Given the description of an element on the screen output the (x, y) to click on. 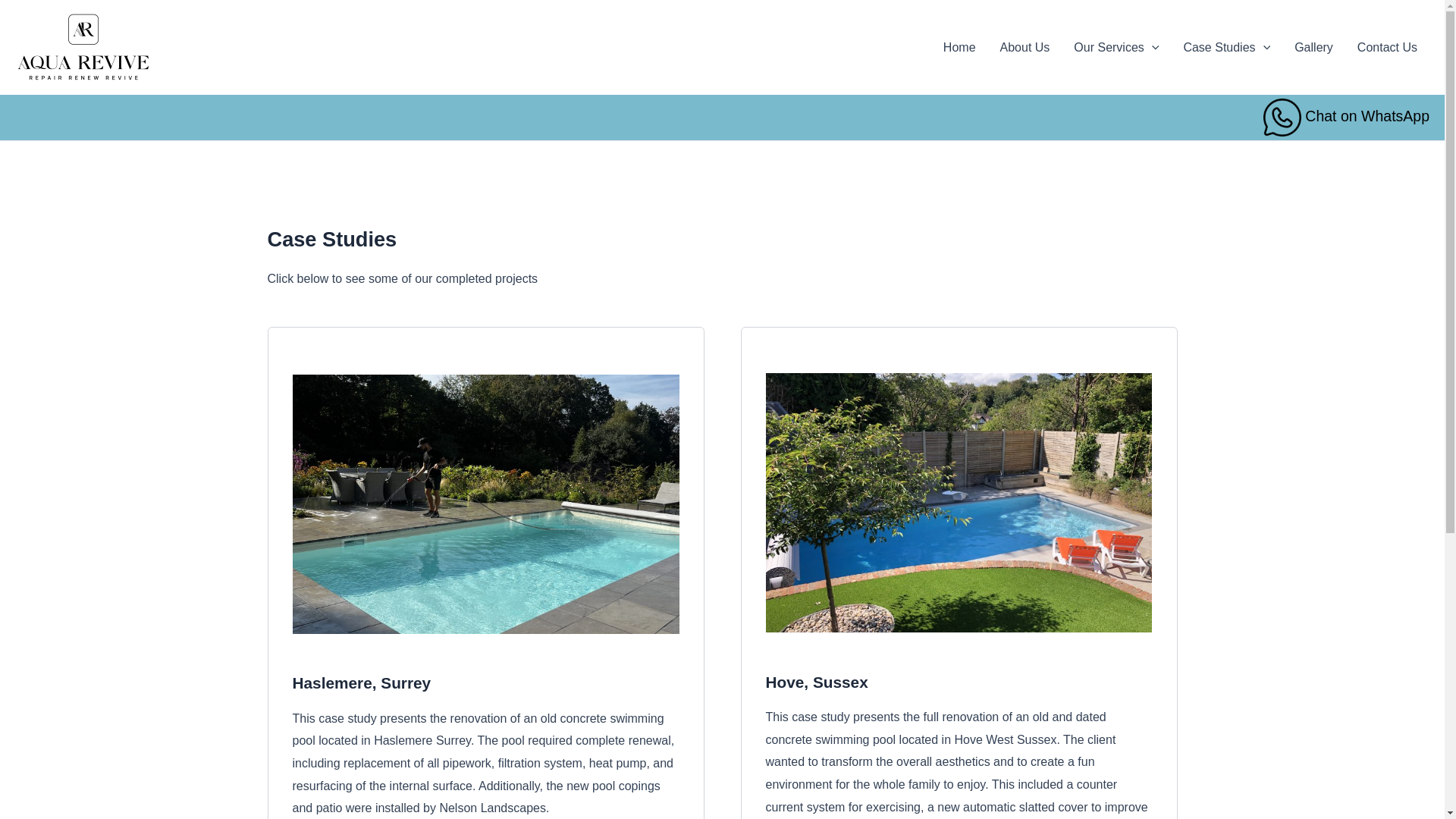
Gallery (1313, 46)
Our Services (1115, 46)
Case Studies (1226, 46)
Home (959, 46)
Chat on WhatsApp (1346, 115)
Contact Us (1387, 46)
About Us (1025, 46)
